Given the description of an element on the screen output the (x, y) to click on. 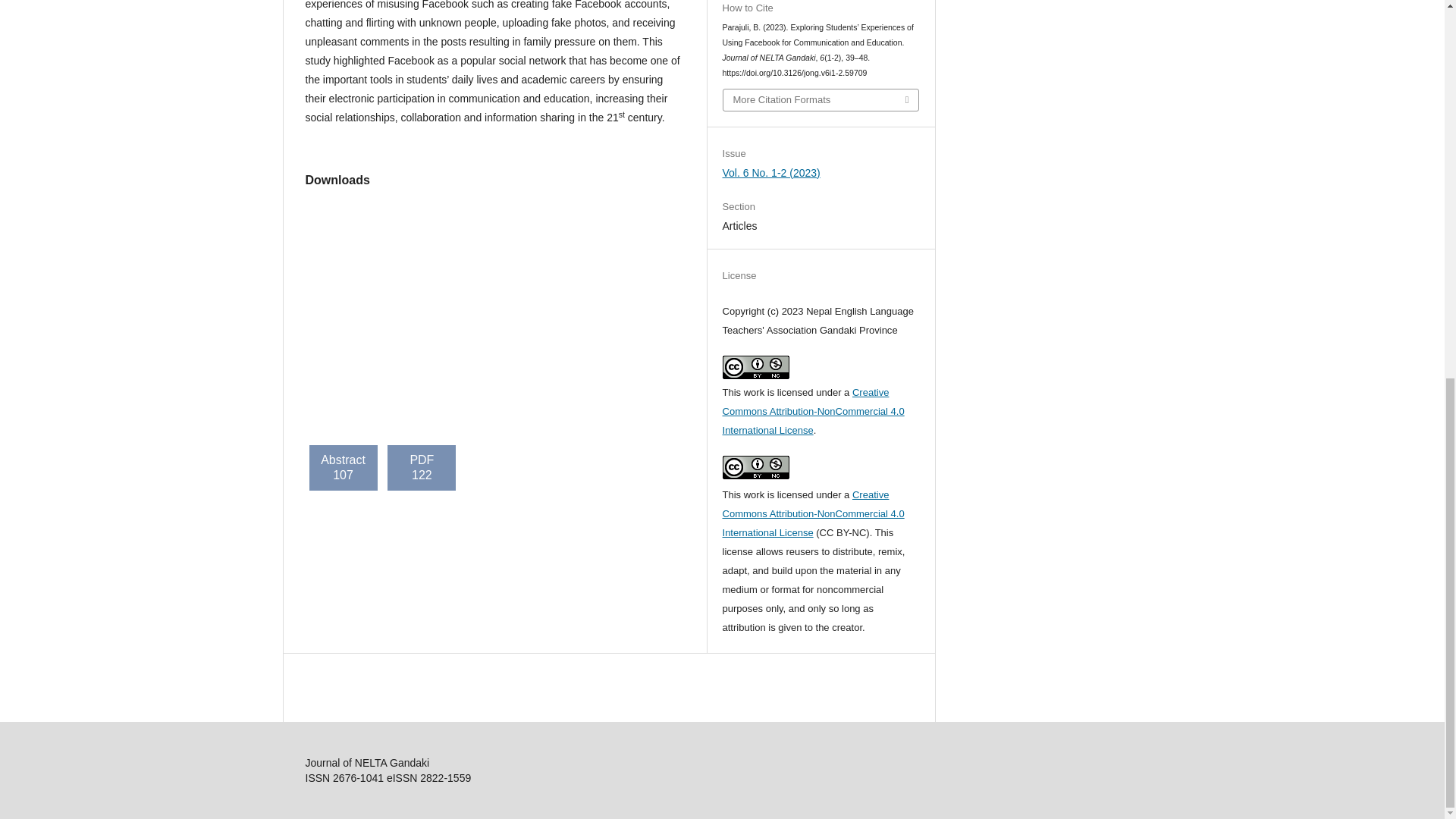
More Citation Formats (820, 99)
